Given the description of an element on the screen output the (x, y) to click on. 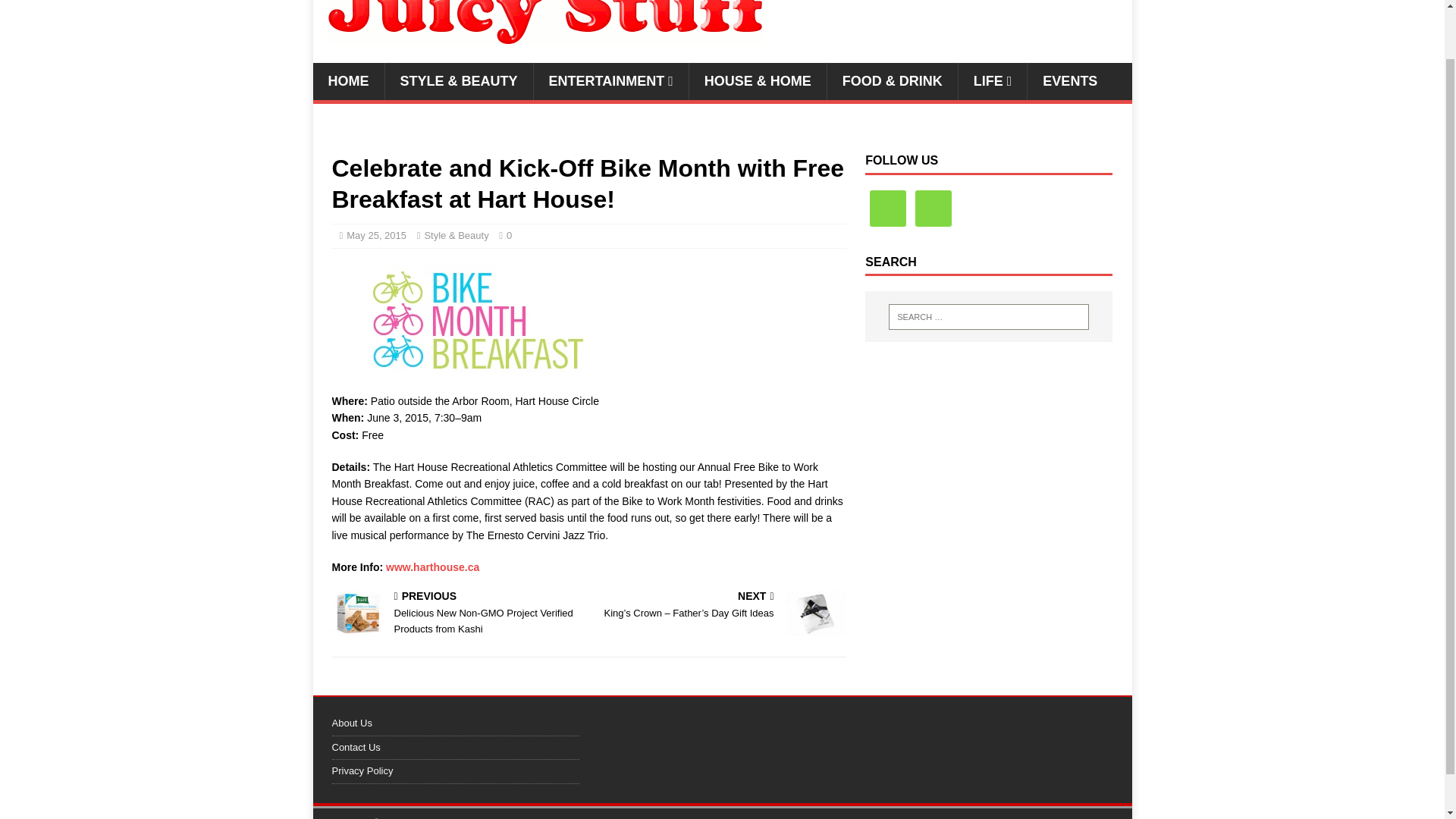
HOME (348, 81)
May 25, 2015 (376, 235)
Harthouse Breakfast (588, 320)
LIFE (992, 81)
EVENTS (1069, 81)
www.harthouse.ca (432, 567)
ENTERTAINMENT (610, 81)
